Given the description of an element on the screen output the (x, y) to click on. 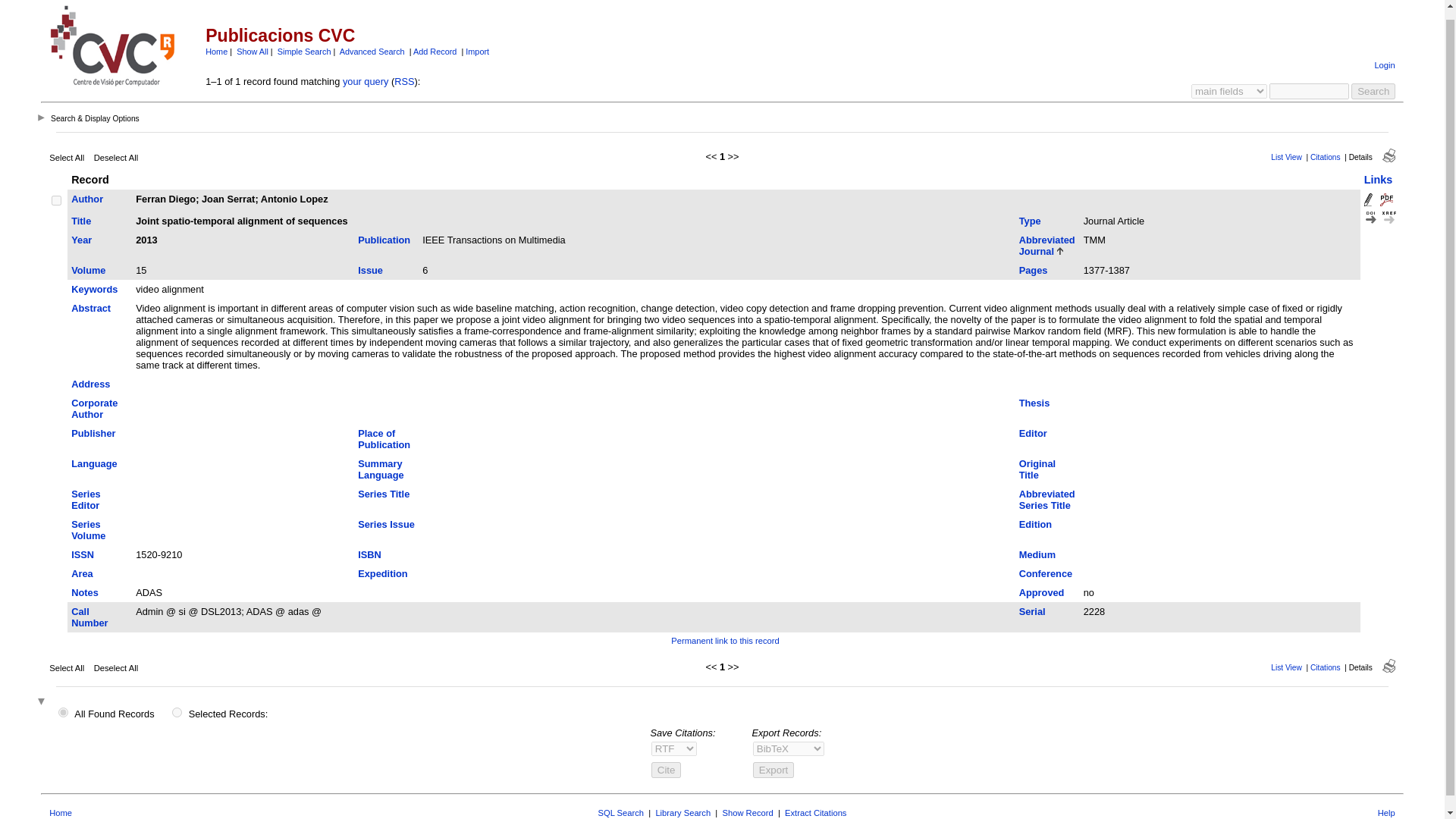
Abbreviated Journal (1047, 245)
Home (216, 51)
Publication (384, 239)
Keywords (94, 288)
Type (1030, 220)
Show All (251, 51)
search the main fields of the database (304, 51)
Title (80, 220)
Simple Search (304, 51)
RSS (403, 81)
Address (90, 383)
Select All (66, 157)
Import (477, 51)
search the literature database (1372, 91)
import records into the database (477, 51)
